Given the description of an element on the screen output the (x, y) to click on. 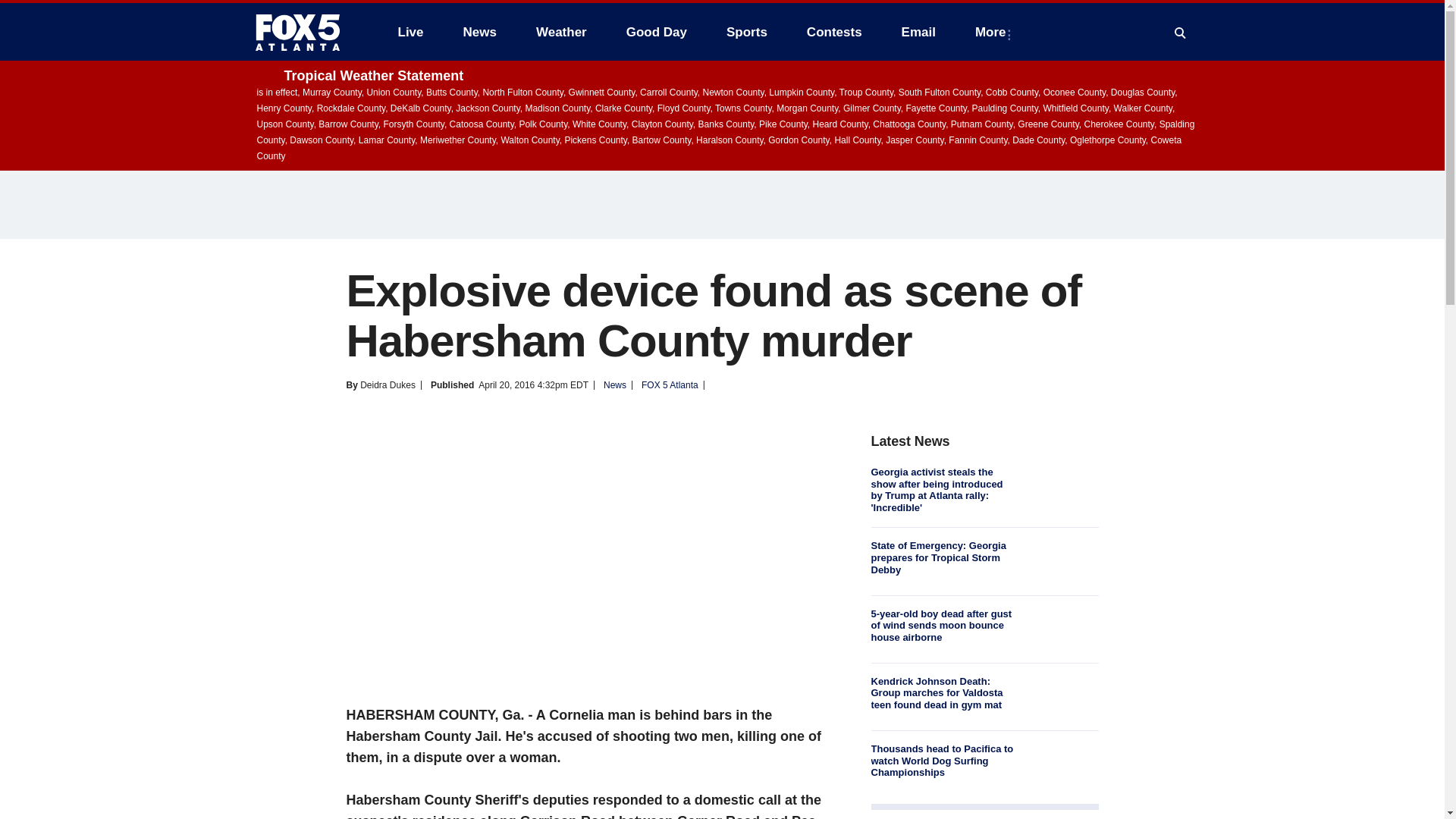
Good Day (656, 32)
Live (410, 32)
Contests (834, 32)
More (993, 32)
Email (918, 32)
Weather (561, 32)
News (479, 32)
Sports (746, 32)
